Given the description of an element on the screen output the (x, y) to click on. 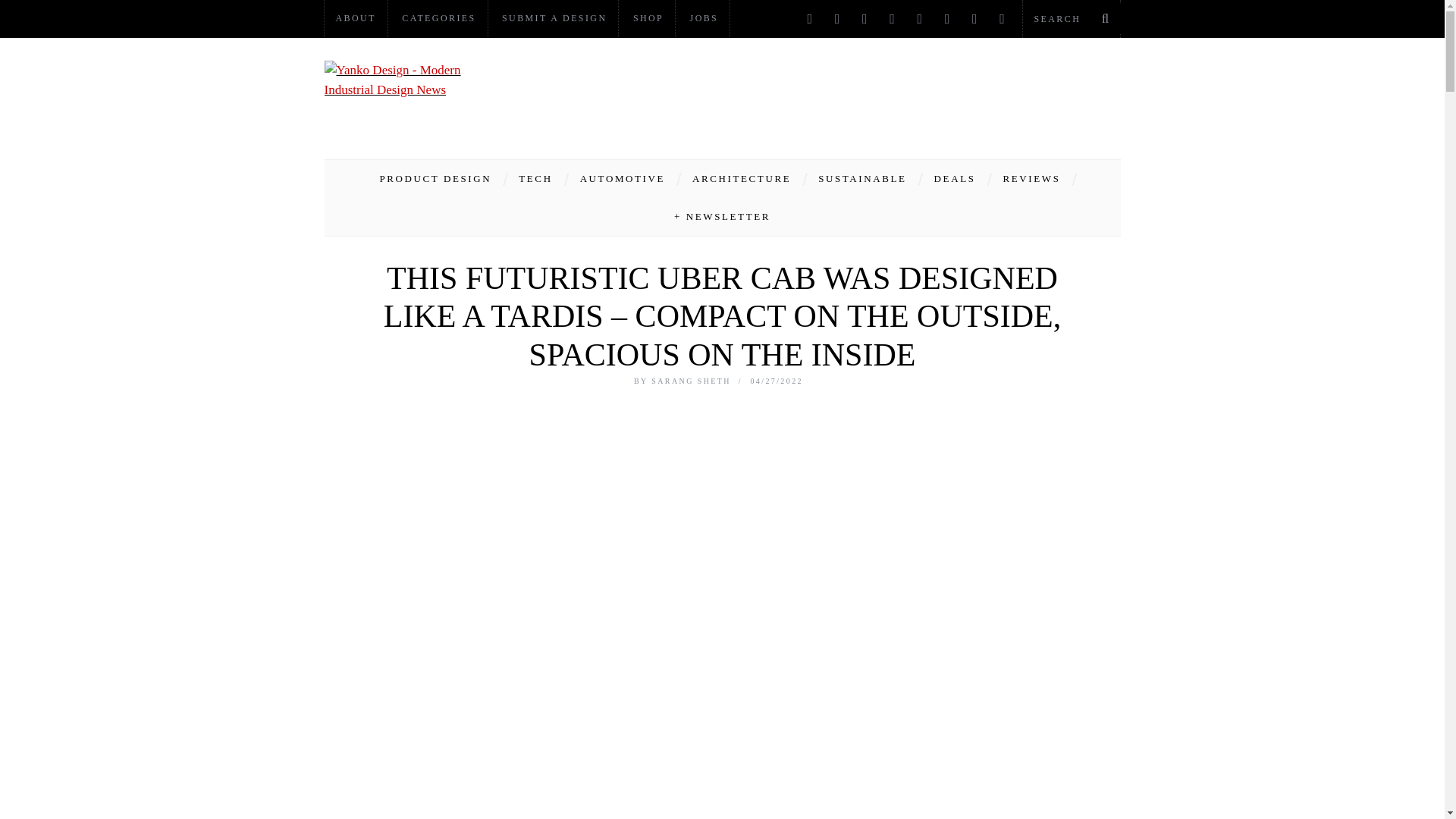
SHOP (648, 18)
ABOUT (355, 18)
JOBS (704, 18)
Search (1071, 18)
CATEGORIES (438, 18)
SUBMIT A DESIGN (553, 18)
